Given the description of an element on the screen output the (x, y) to click on. 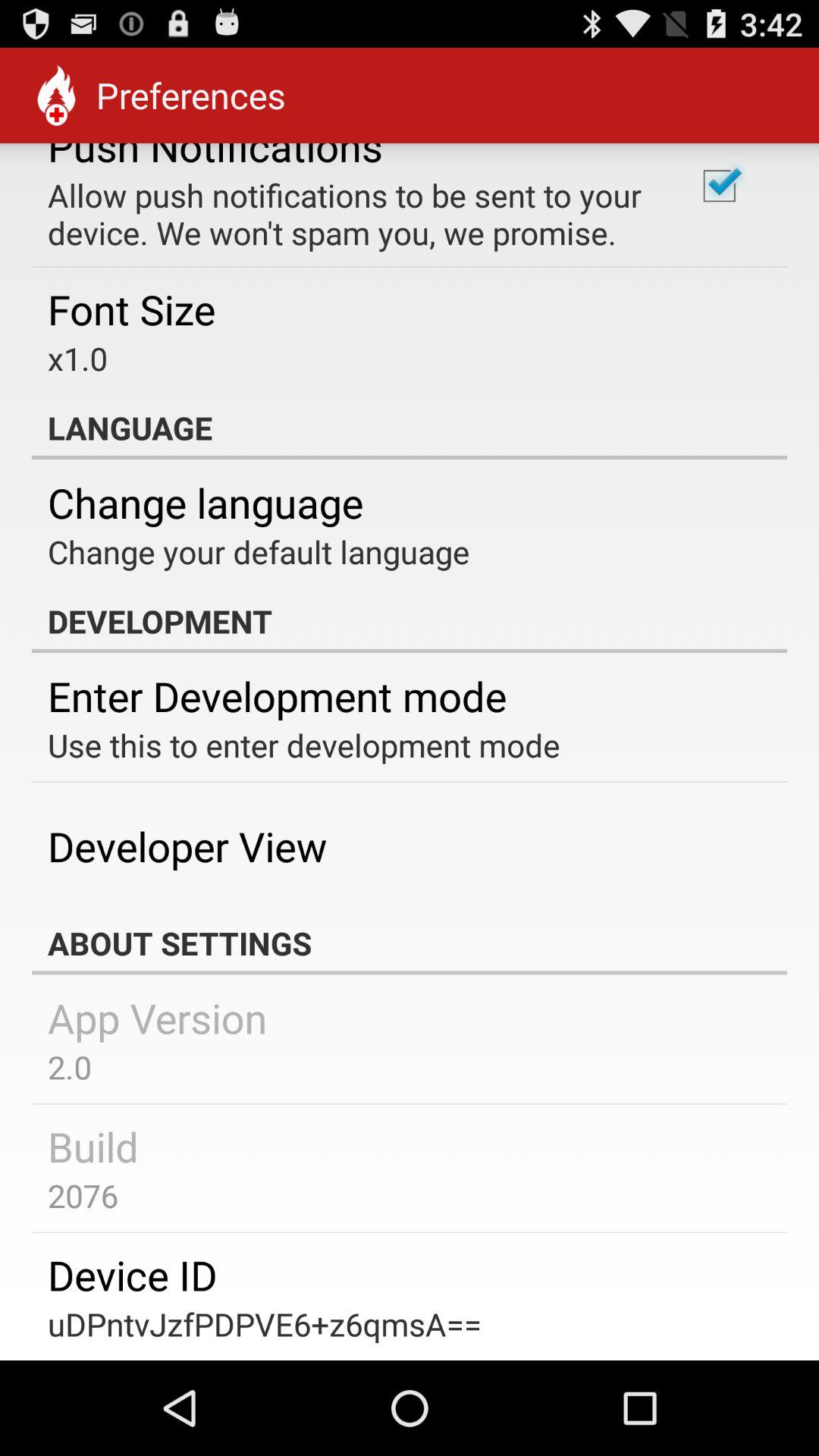
turn off the item above the x1.0 (131, 308)
